Given the description of an element on the screen output the (x, y) to click on. 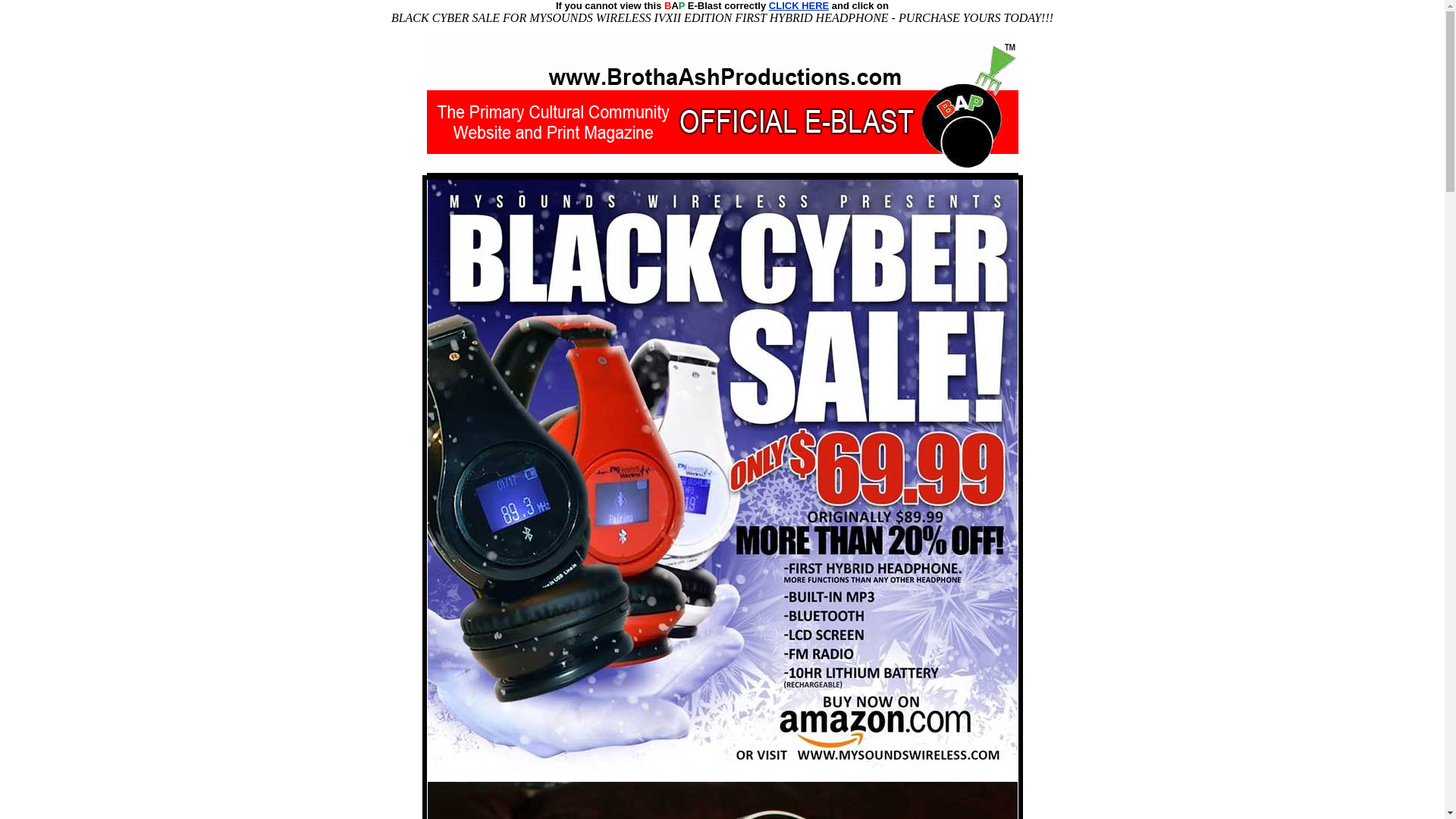
CLICK HERE (798, 5)
